Given the description of an element on the screen output the (x, y) to click on. 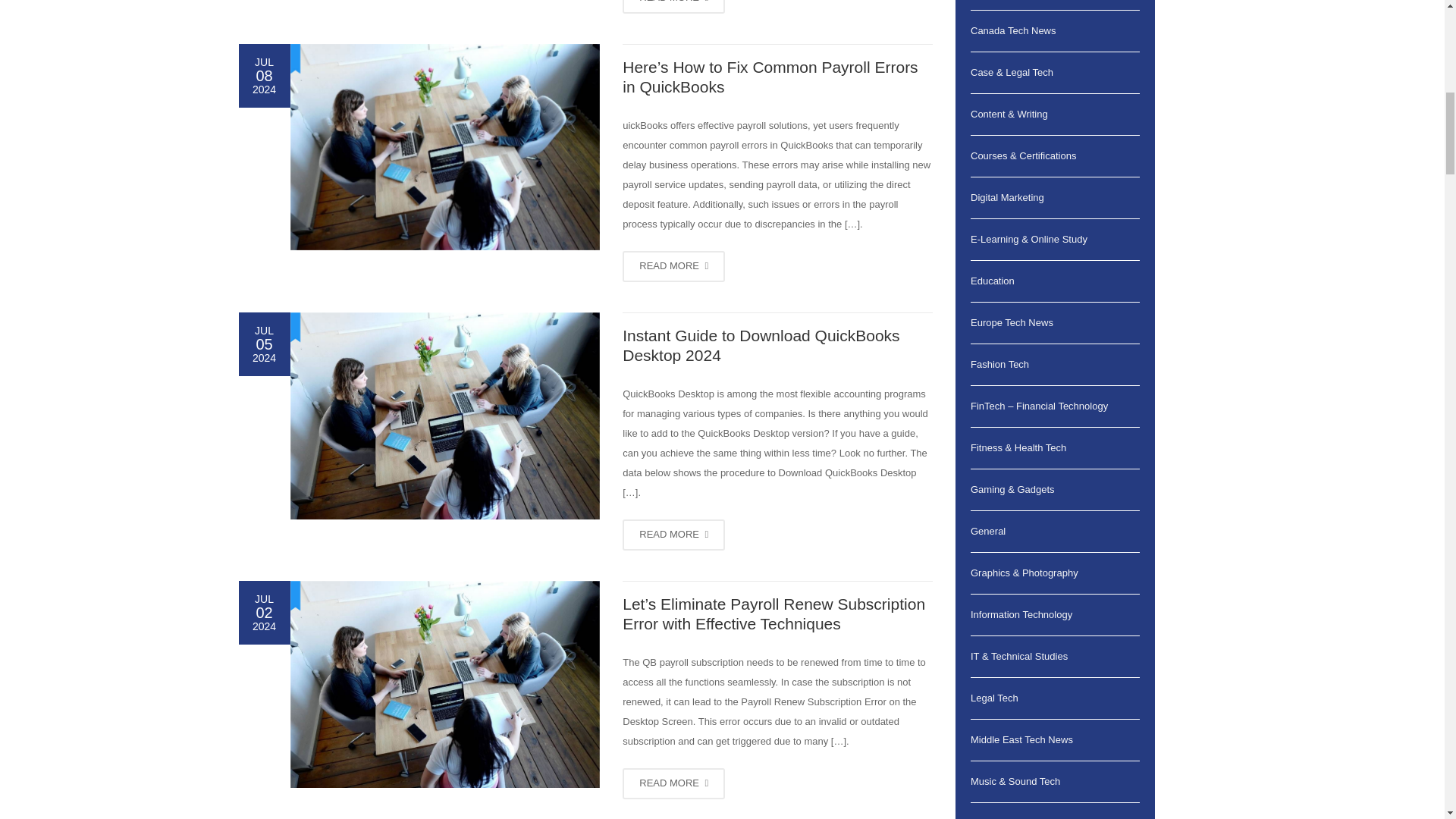
Instant Guide to Download QuickBooks Desktop 2024 (761, 344)
Instant Guide to Download QuickBooks Desktop 2024 (444, 415)
Rebuilding the Damaged or Corrupted QuickBooks Company File (674, 6)
Instant Guide to Download QuickBooks Desktop 2024 (674, 534)
